Given the description of an element on the screen output the (x, y) to click on. 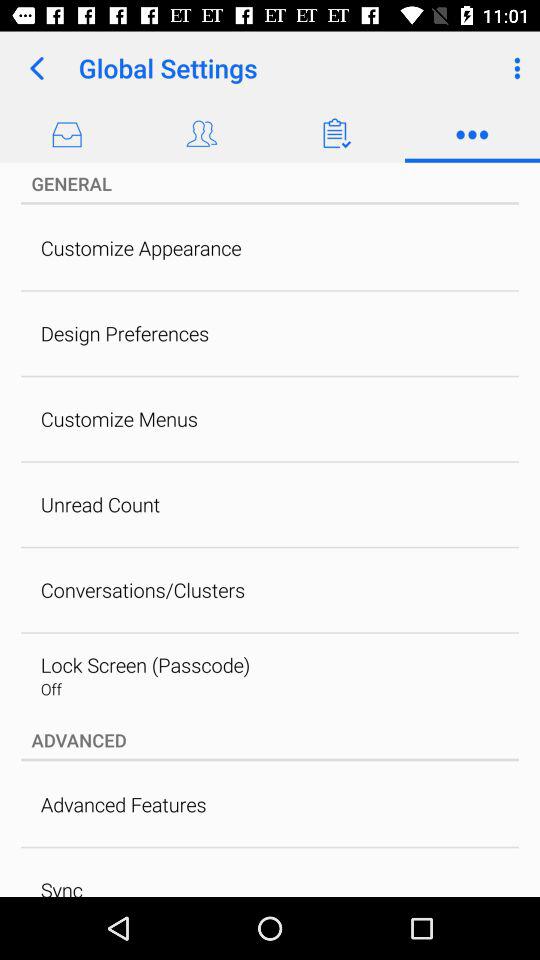
select the item below customize menus icon (100, 504)
